Given the description of an element on the screen output the (x, y) to click on. 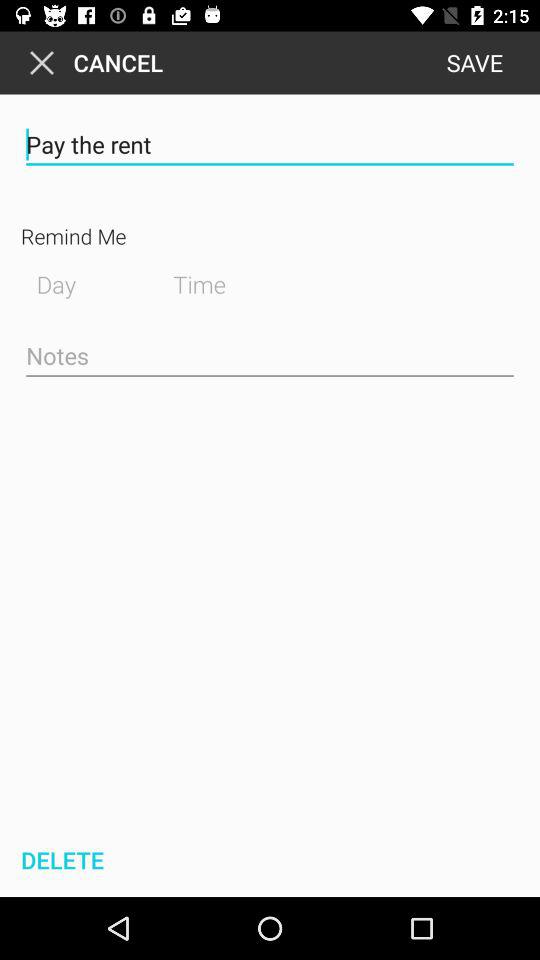
jump to the save icon (474, 62)
